Given the description of an element on the screen output the (x, y) to click on. 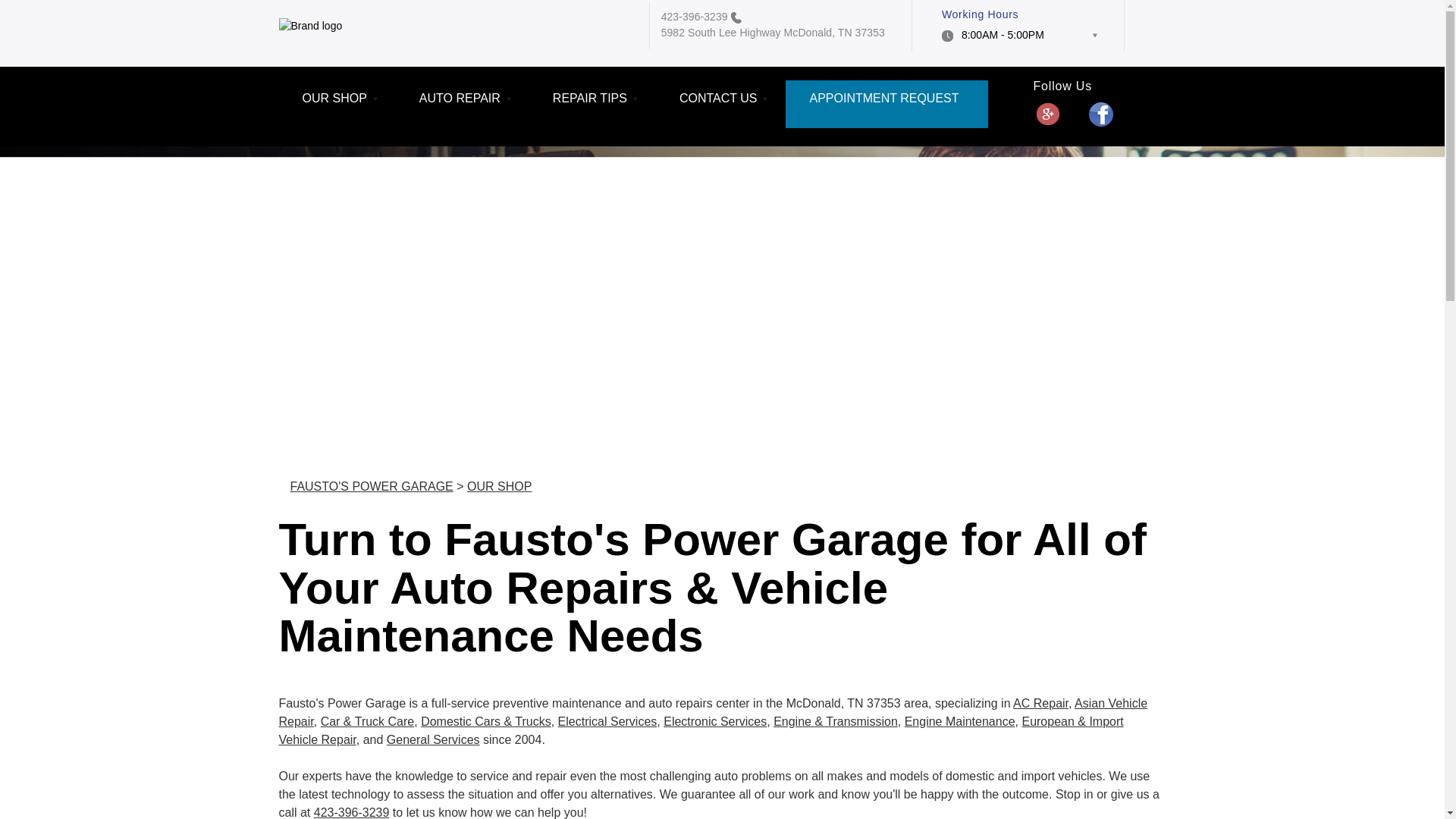
OUR SHOP (552, 274)
REPAIR TIPS (592, 103)
APPOINTMENT REQUEST (886, 103)
8:00AM - 5:00PM (1019, 39)
FAUSTO'S POWER GARAGE (370, 486)
FAUSTO'S POWER GARAGE (392, 274)
CONTACT US (721, 103)
AUTO REPAIR (462, 103)
423-396-3239 (694, 16)
OUR SHOP (337, 103)
